Given the description of an element on the screen output the (x, y) to click on. 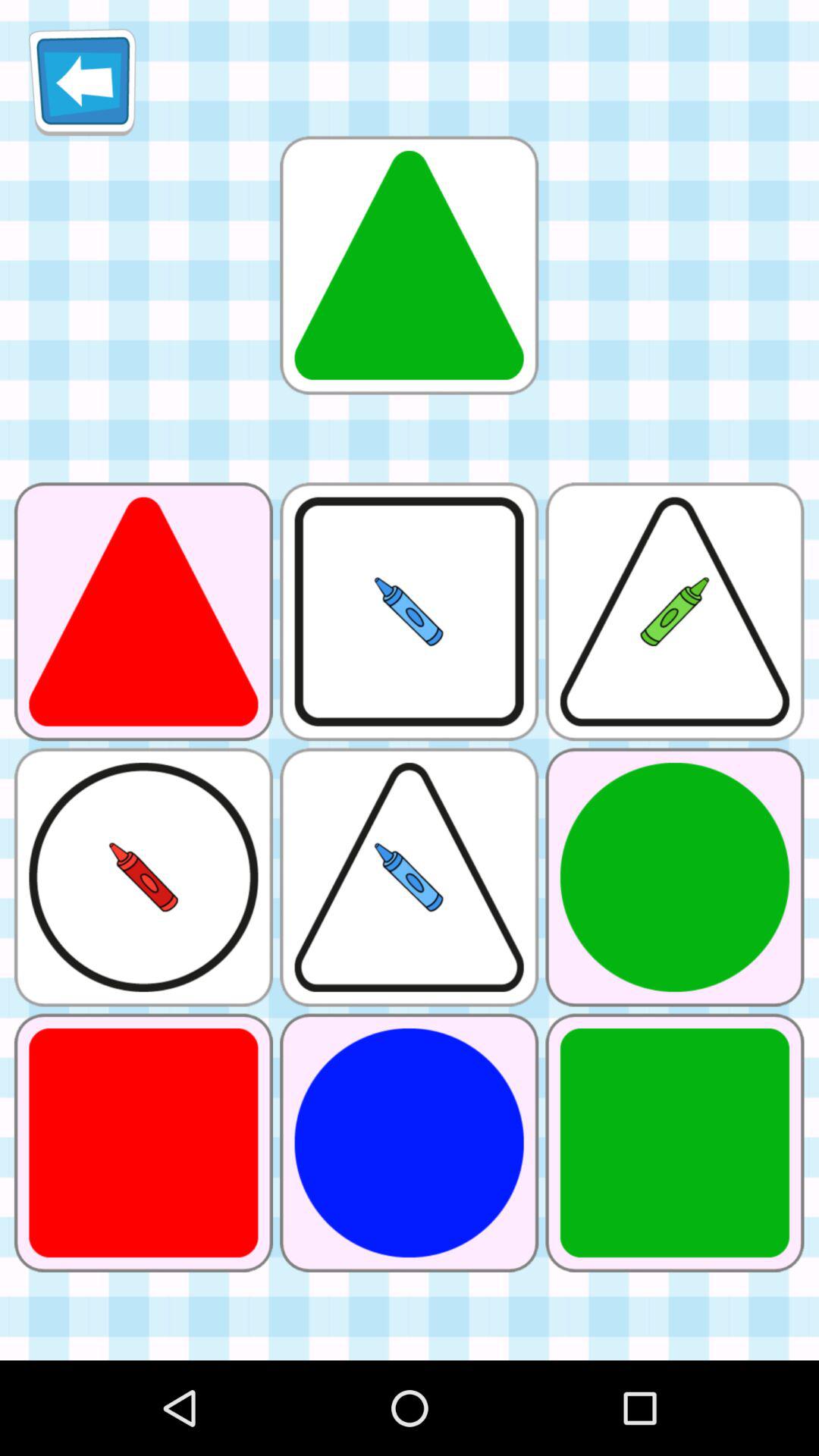
match green triangle (409, 265)
